Given the description of an element on the screen output the (x, y) to click on. 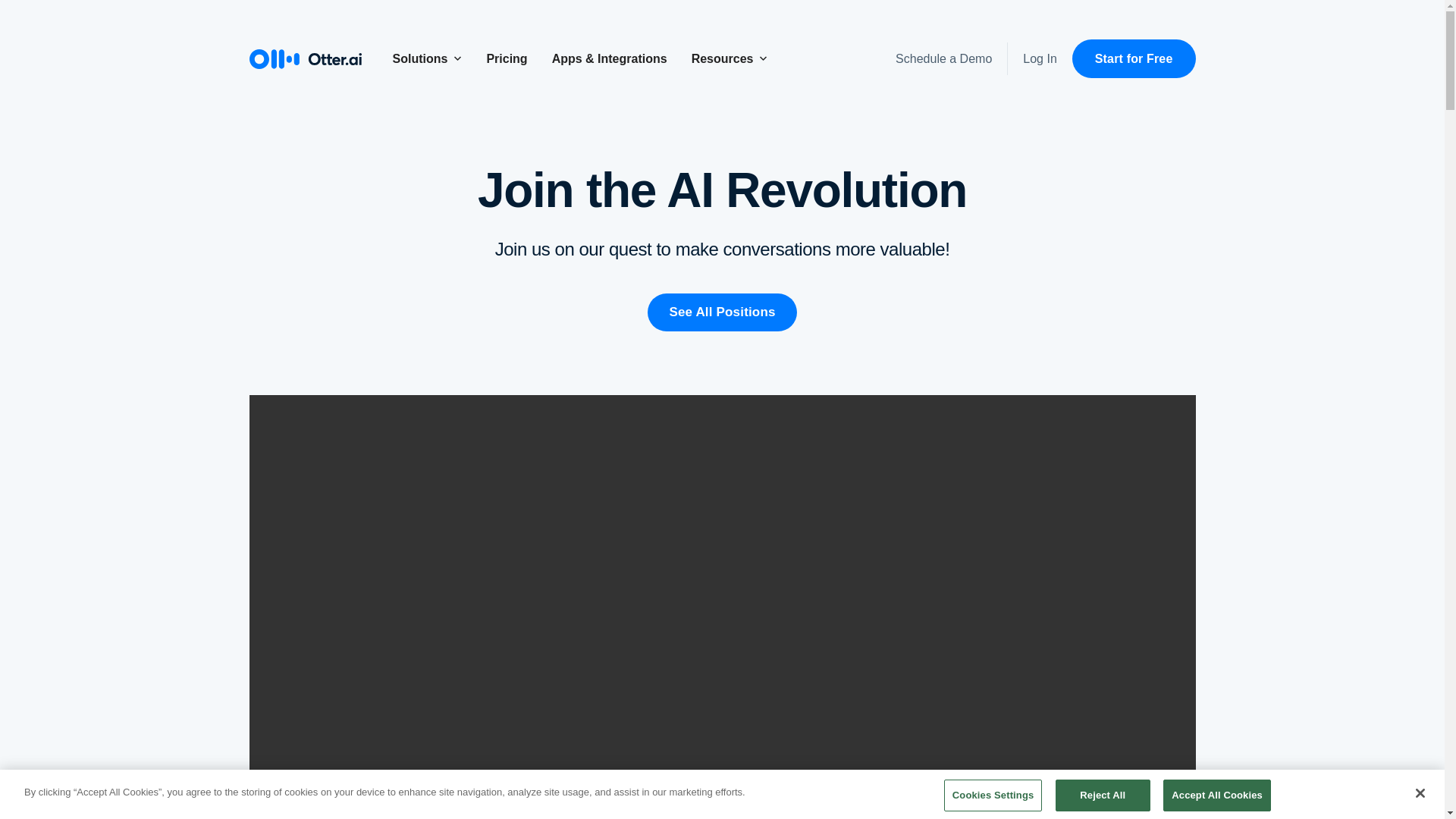
Pricing (506, 58)
Start for Free (1133, 58)
Log In (1039, 58)
Schedule a Demo (946, 58)
See All Positions (721, 312)
